Given the description of an element on the screen output the (x, y) to click on. 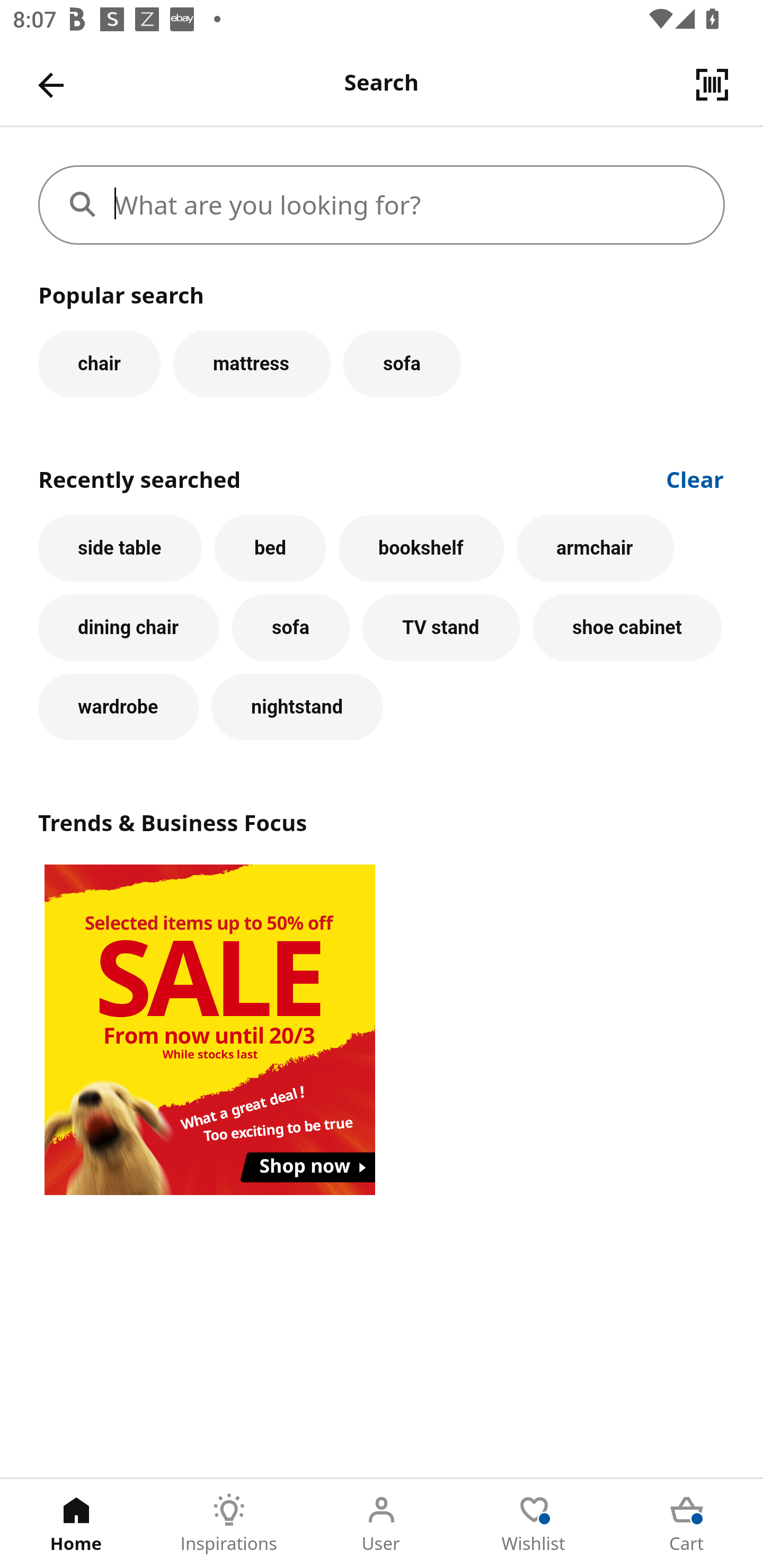
chair (99, 363)
mattress (251, 363)
sofa (401, 363)
Clear (695, 477)
side table (120, 547)
bed (269, 547)
bookshelf (420, 547)
armchair (594, 547)
dining chair (128, 627)
sofa (290, 627)
TV stand (440, 627)
shoe cabinet (626, 627)
wardrobe (118, 707)
nightstand (297, 707)
Home
Tab 1 of 5 (76, 1522)
Inspirations
Tab 2 of 5 (228, 1522)
User
Tab 3 of 5 (381, 1522)
Wishlist
Tab 4 of 5 (533, 1522)
Cart
Tab 5 of 5 (686, 1522)
